Given the description of an element on the screen output the (x, y) to click on. 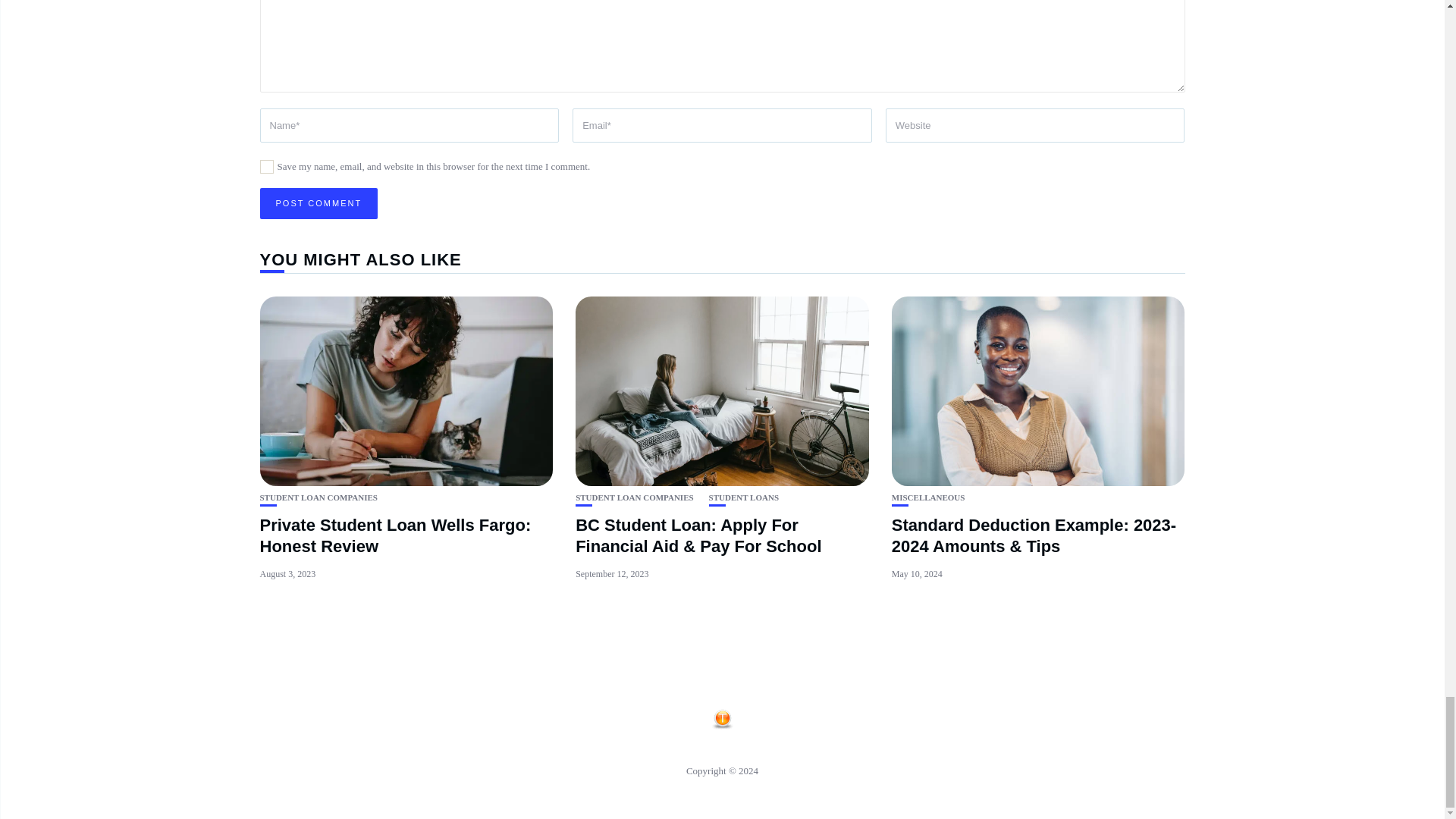
Post Comment (318, 203)
Post Comment (318, 203)
Private Student Loan Wells Fargo: Honest Review (395, 535)
STUDENT LOAN COMPANIES (318, 497)
STUDENT LOAN COMPANIES (634, 497)
yes (266, 166)
STUDENT LOANS (743, 497)
